Given the description of an element on the screen output the (x, y) to click on. 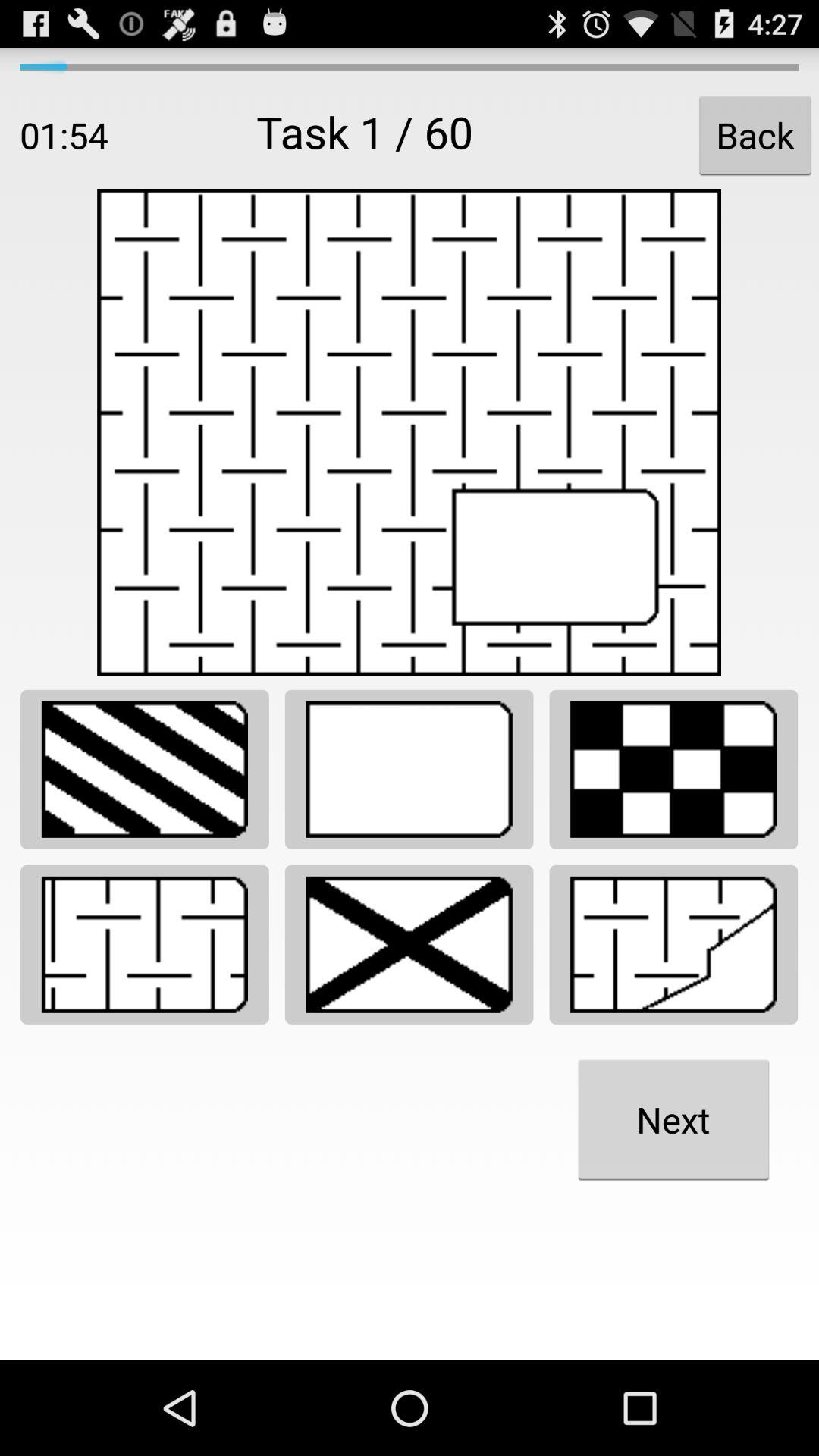
swipe until back item (755, 135)
